Given the description of an element on the screen output the (x, y) to click on. 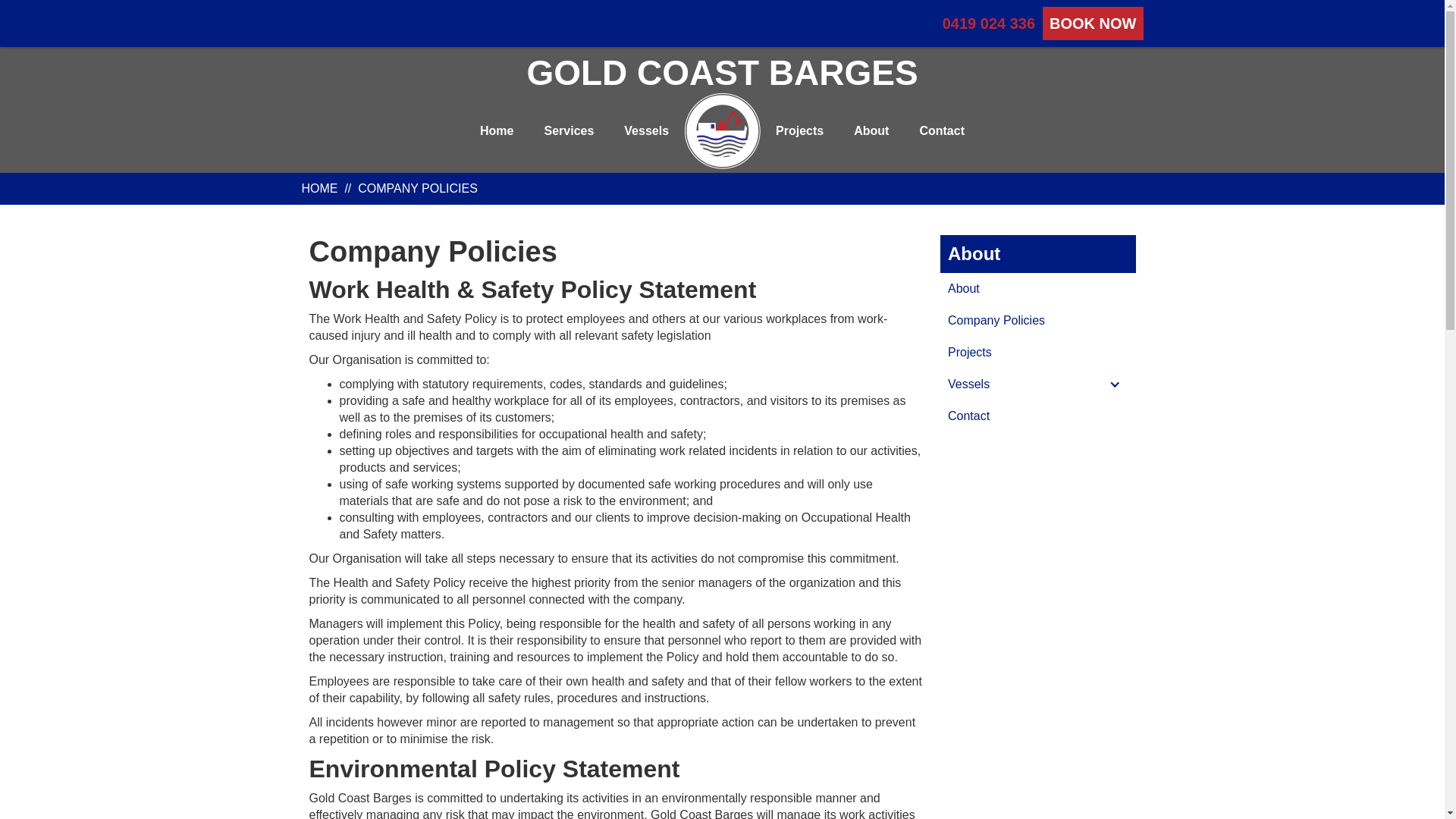
Projects Element type: text (1037, 352)
HOME Element type: text (319, 188)
Vessels Element type: text (646, 130)
Contact Element type: text (1037, 416)
Company Policies Element type: text (1037, 320)
Home Element type: text (496, 130)
Services Element type: text (568, 130)
BOOK NOW Element type: text (1092, 23)
COMPANY POLICIES Element type: text (417, 188)
0419 024 336 Element type: text (988, 23)
About Element type: text (870, 130)
Contact Element type: text (941, 130)
Projects Element type: text (799, 130)
About Element type: text (1037, 288)
